Given the description of an element on the screen output the (x, y) to click on. 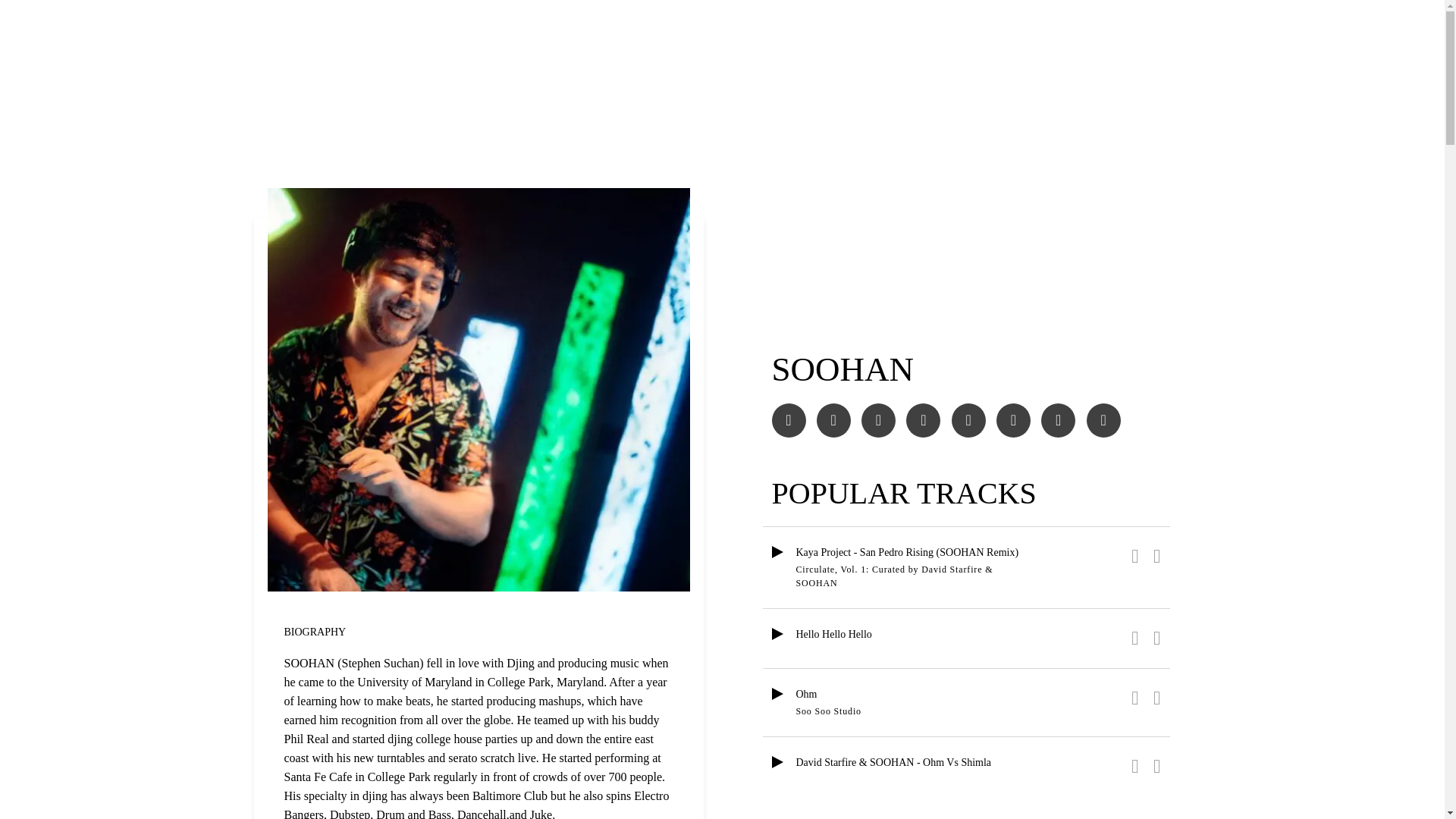
ALL ARTISTS (293, 136)
MUSIC (270, 34)
ARTISTS (339, 34)
PRODUCTION (431, 34)
ALL ARTISTS (293, 136)
MORE (1211, 34)
MERCH (521, 34)
